Given the description of an element on the screen output the (x, y) to click on. 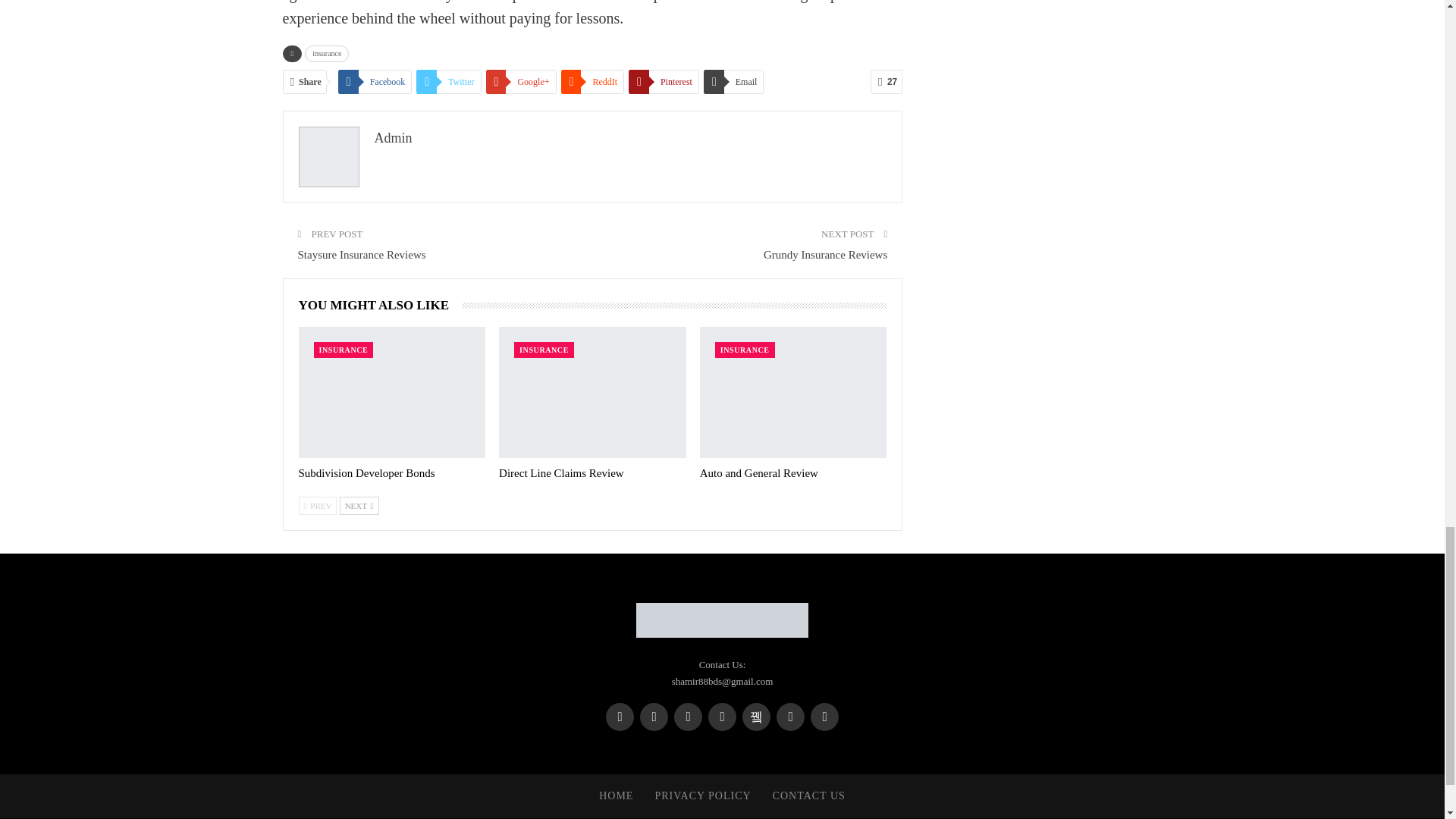
Direct Line Claims Review (561, 472)
Previous (317, 505)
Auto and General Review (793, 391)
Auto and General Review (759, 472)
Direct Line Claims Review (592, 391)
Subdivision Developer Bonds (392, 391)
Next (358, 505)
Subdivision Developer Bonds (366, 472)
